Given the description of an element on the screen output the (x, y) to click on. 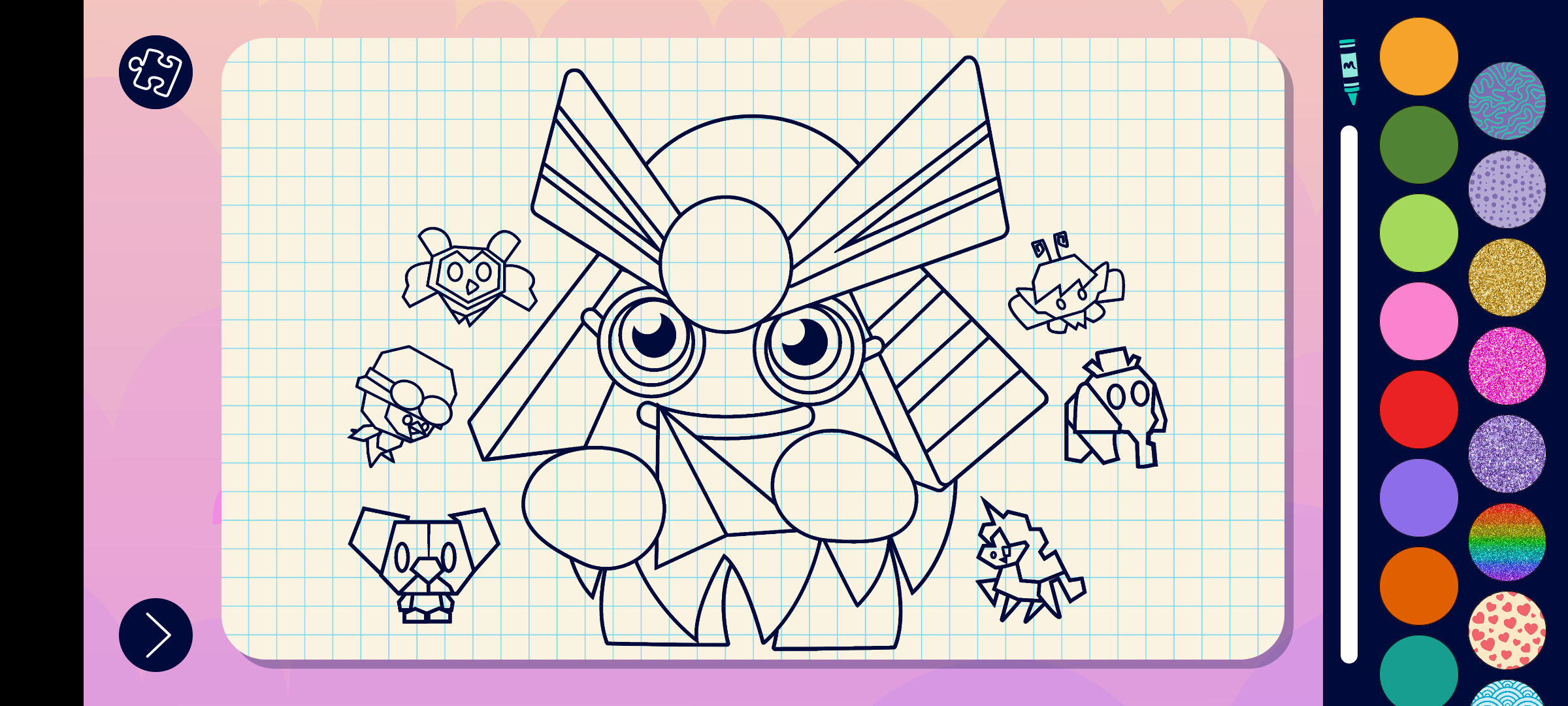
coloring background (1507, 101)
coloring background (1507, 189)
coloring background (1507, 277)
coloring background (1507, 365)
coloring background (1507, 454)
coloring background (1507, 542)
coloring background (1507, 630)
